Given the description of an element on the screen output the (x, y) to click on. 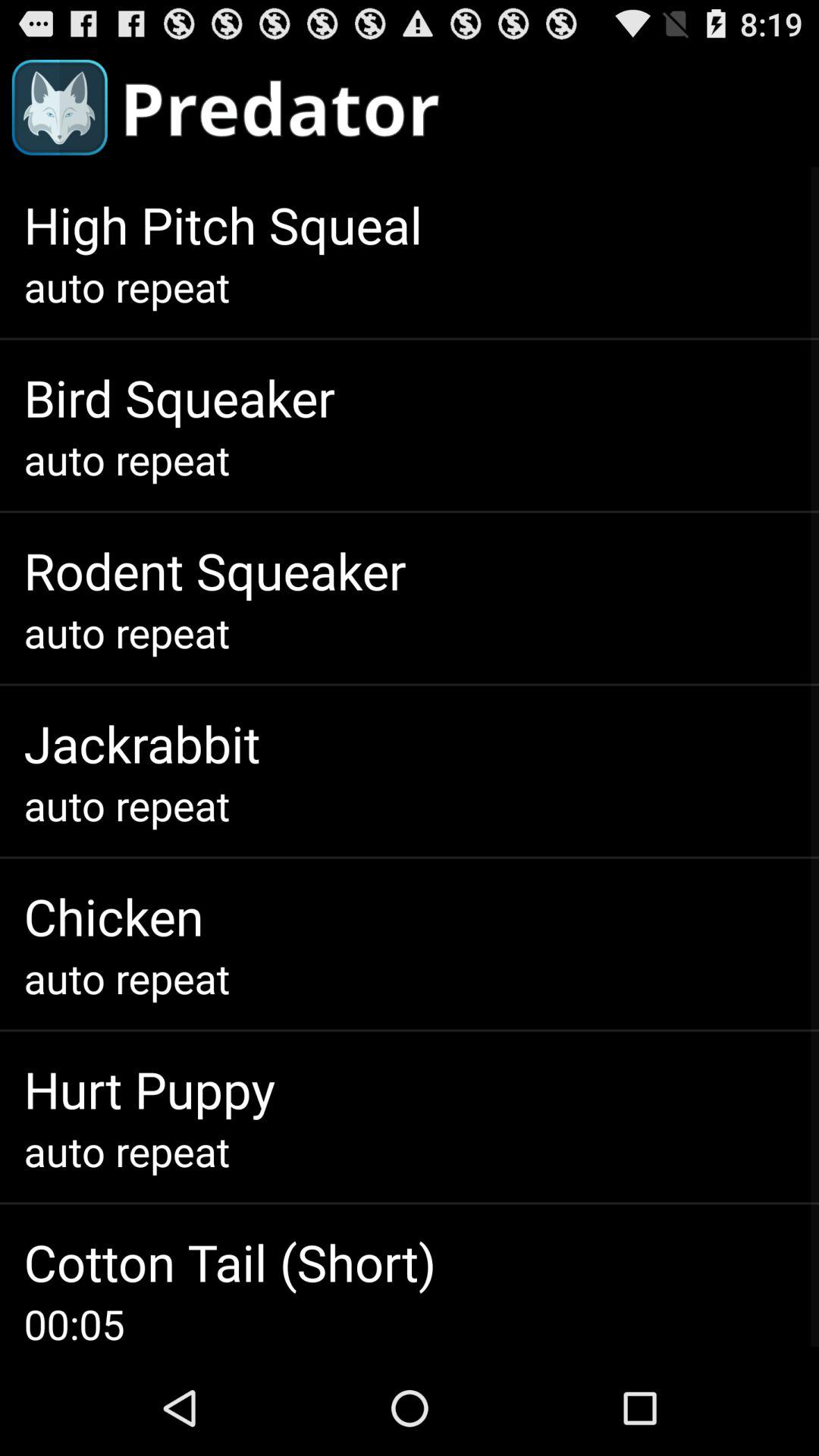
select the jackrabbit icon (141, 743)
